Given the description of an element on the screen output the (x, y) to click on. 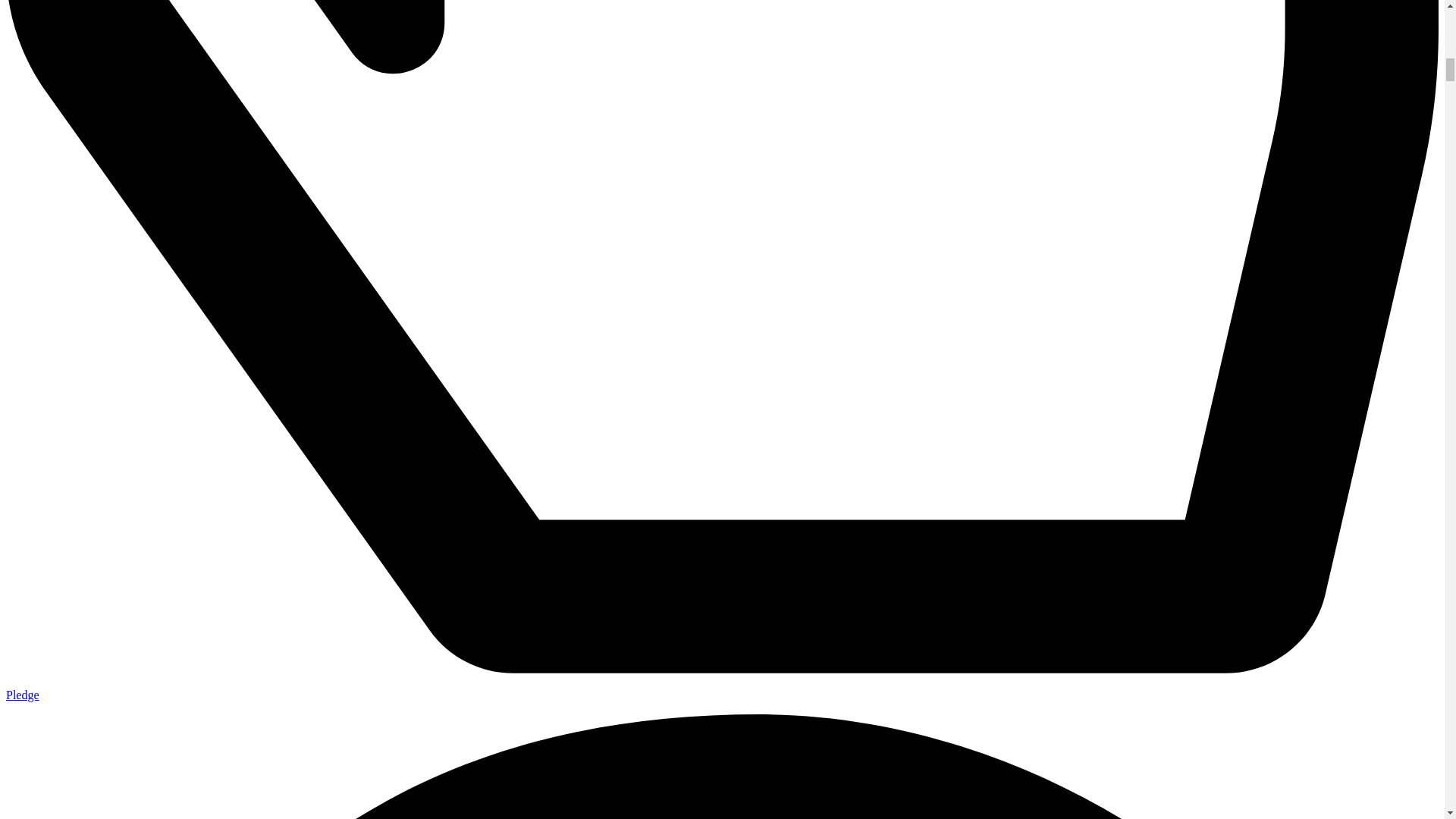
Pledge (22, 694)
